Given the description of an element on the screen output the (x, y) to click on. 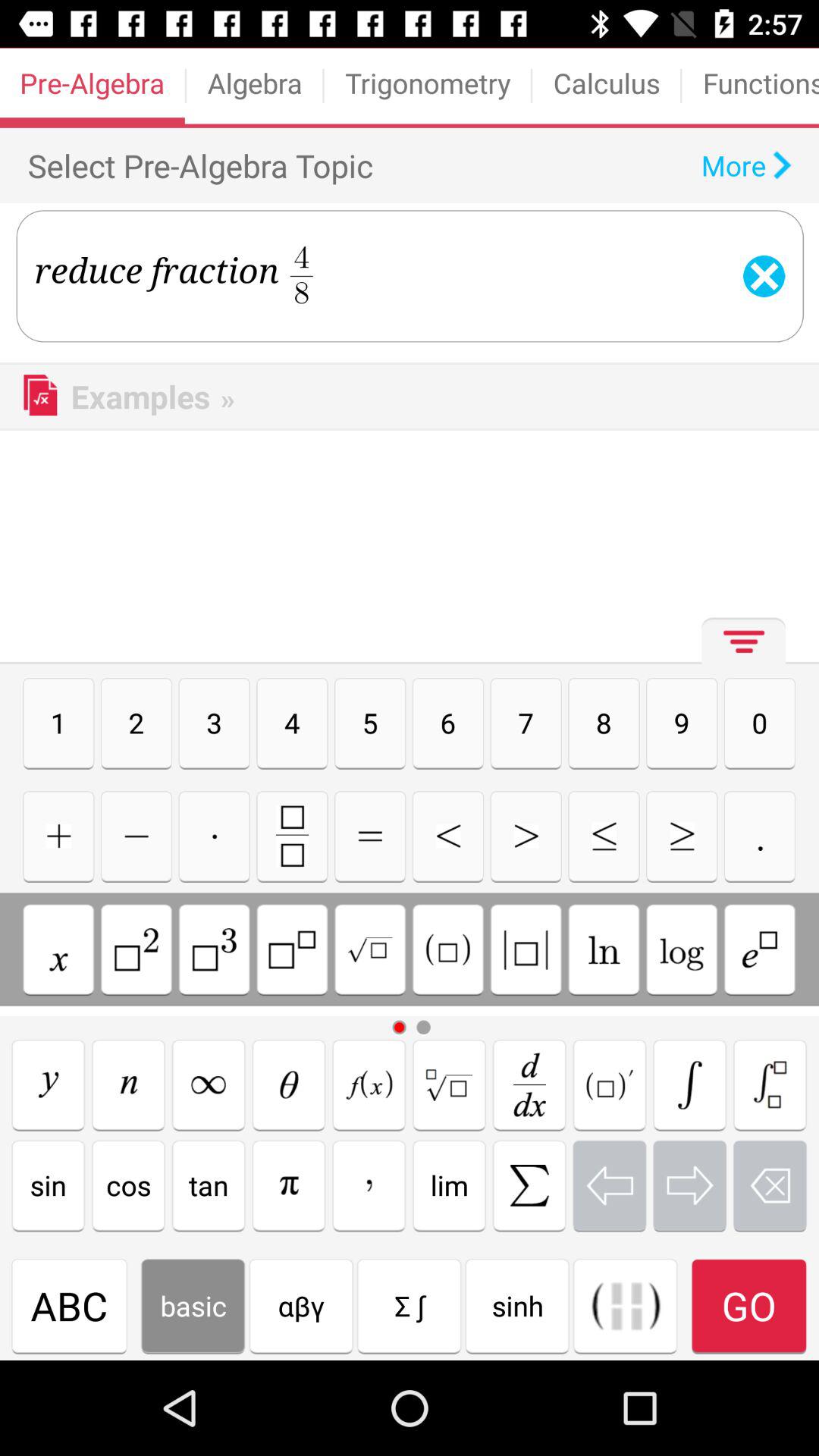
move forward (689, 1185)
